Given the description of an element on the screen output the (x, y) to click on. 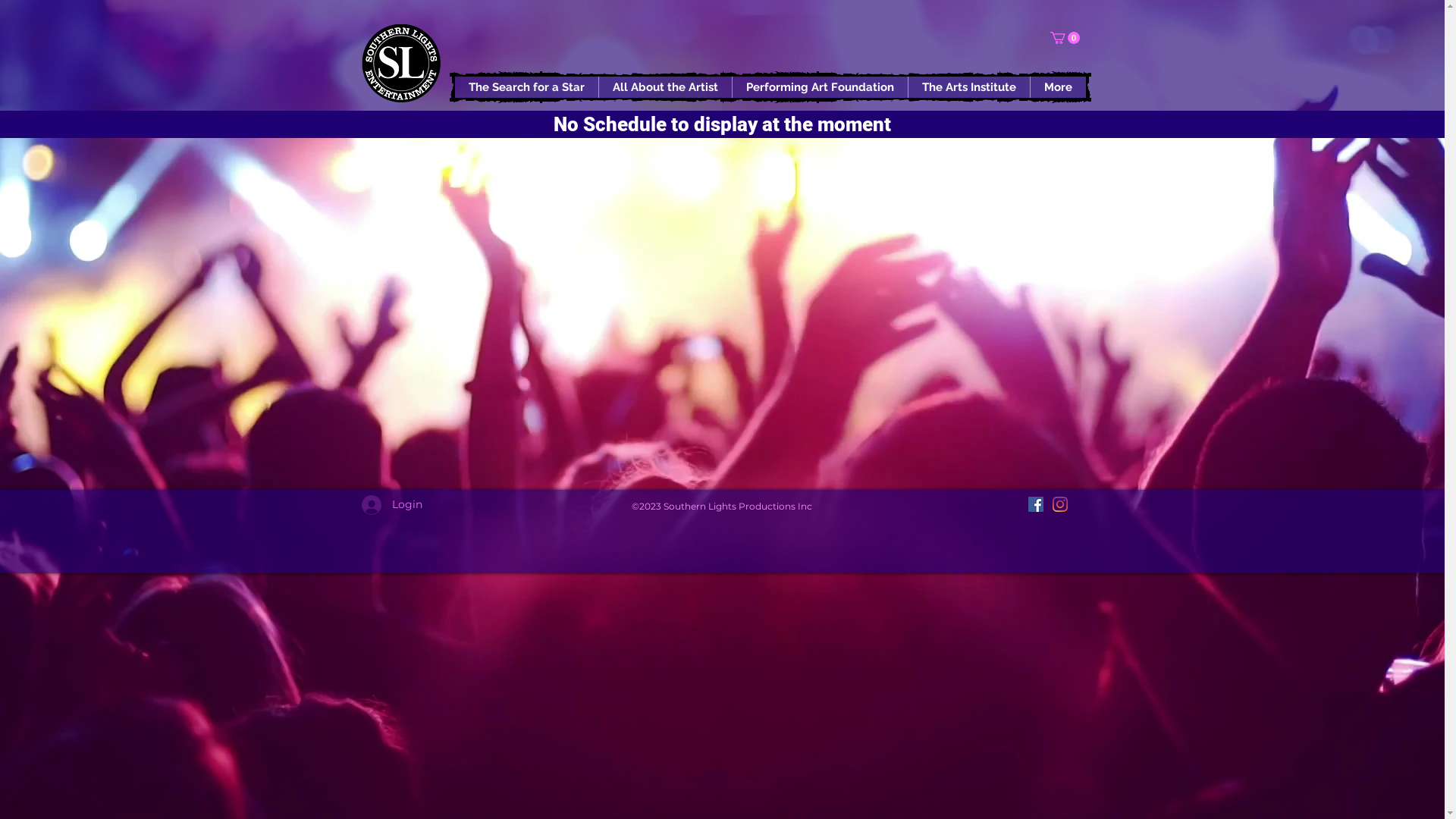
The Arts Institute Element type: text (967, 86)
0 Element type: text (1064, 37)
Login Element type: text (381, 504)
All About the Artist Element type: text (664, 86)
The Search for a Star Element type: text (526, 86)
Performing Art Foundation Element type: text (818, 86)
